Given the description of an element on the screen output the (x, y) to click on. 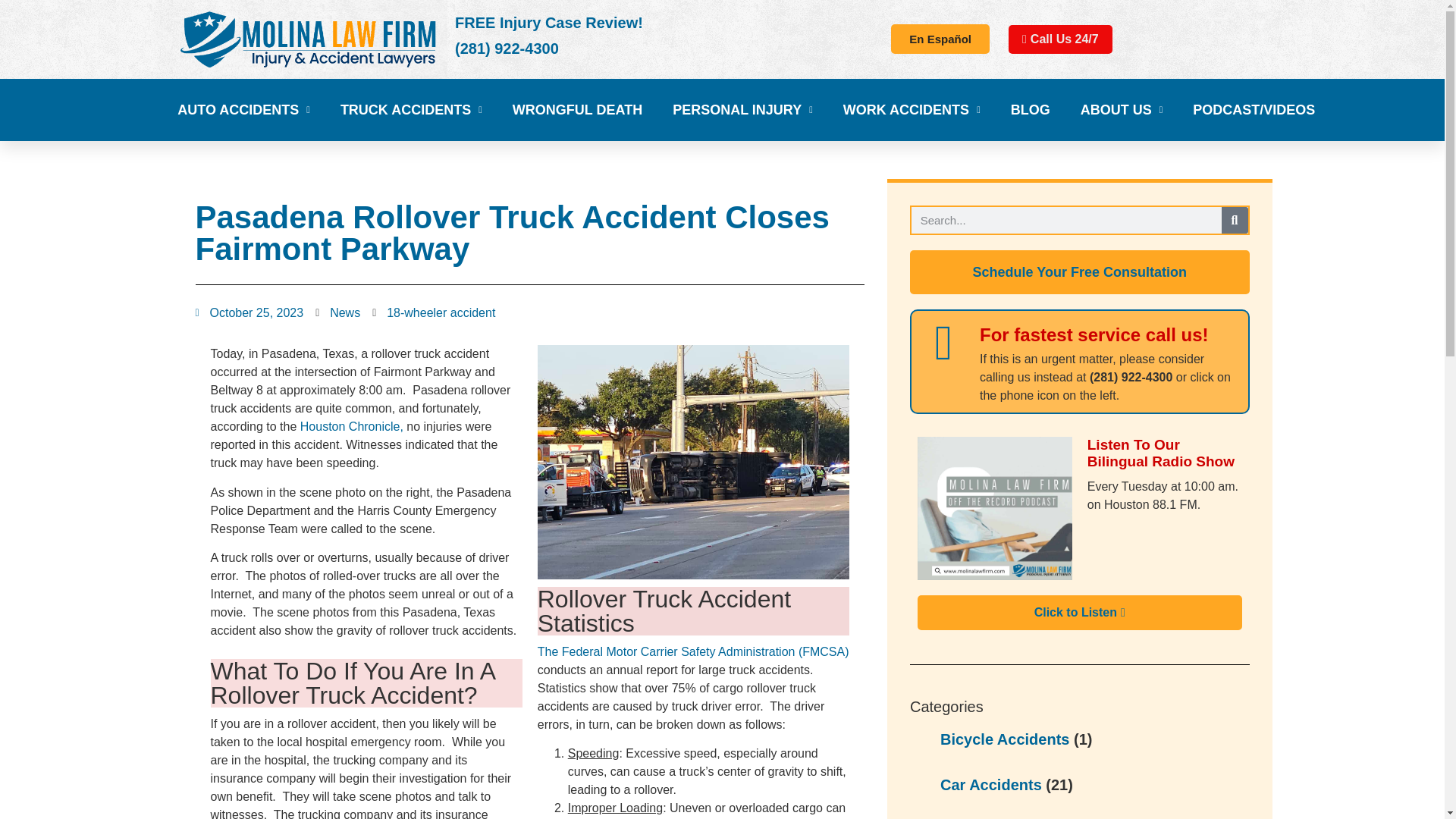
AUTO ACCIDENTS (243, 110)
Pasadena Rollover Truck Accident Closes Fairmont Parkway 1 (692, 461)
PERSONAL INJURY (742, 110)
TRUCK ACCIDENTS (410, 110)
WRONGFUL DEATH (577, 110)
WORK ACCIDENTS (911, 110)
